Given the description of an element on the screen output the (x, y) to click on. 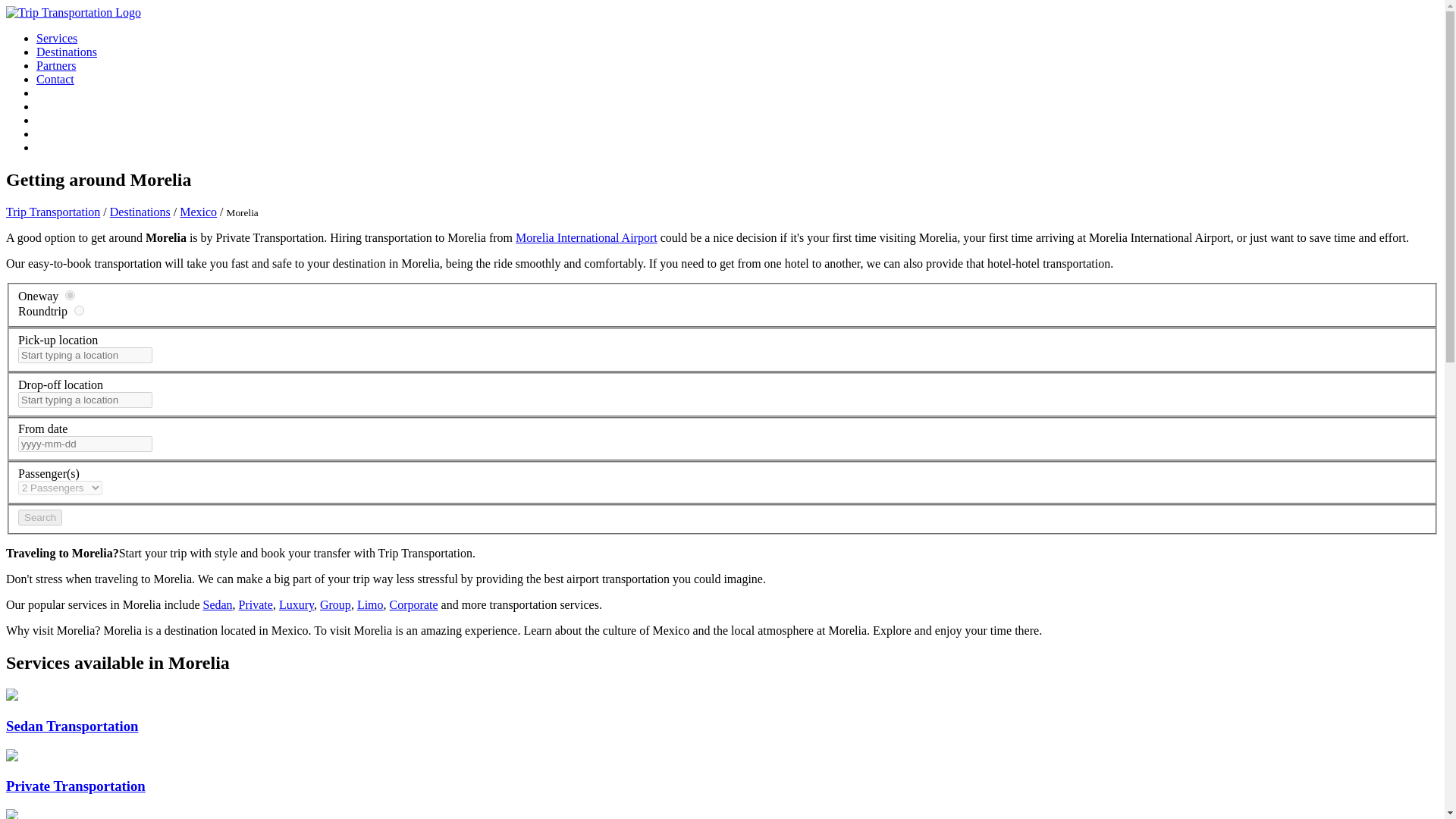
Mexico (197, 211)
Destinations (140, 211)
Available Destinations (66, 51)
Private (255, 604)
Contact (55, 78)
Partners (55, 65)
Search for available transportation (39, 517)
Services (56, 38)
Sedan Transportation (71, 725)
Sedan (216, 604)
Partner with Trip Transportation (55, 65)
Trip Transportation Services (56, 38)
Contact Trip Transportation (55, 78)
roundtrip (79, 310)
Destinations (66, 51)
